Given the description of an element on the screen output the (x, y) to click on. 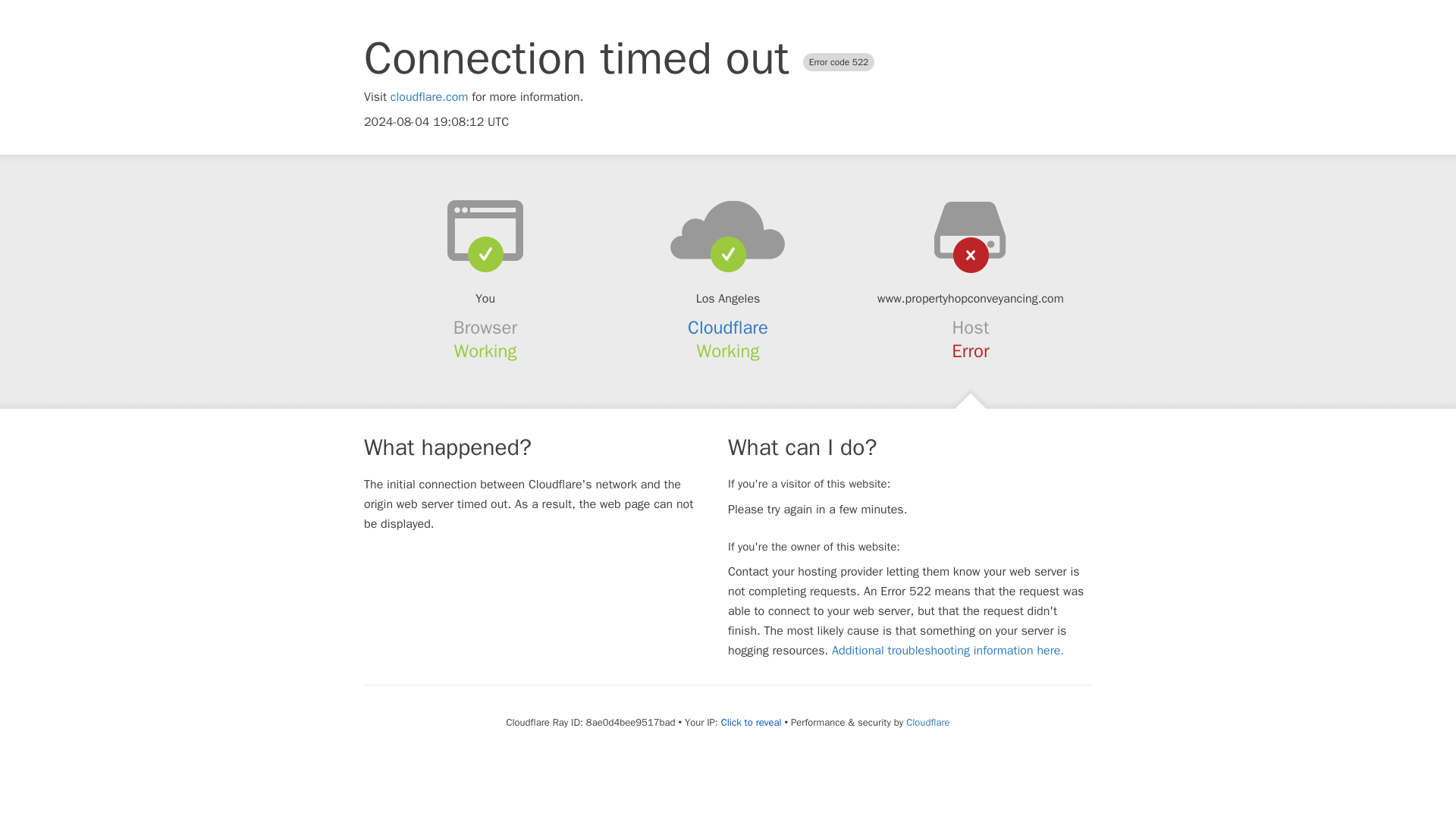
Click to reveal (750, 722)
Cloudflare (727, 327)
Cloudflare (927, 721)
cloudflare.com (429, 96)
Additional troubleshooting information here. (947, 650)
